Given the description of an element on the screen output the (x, y) to click on. 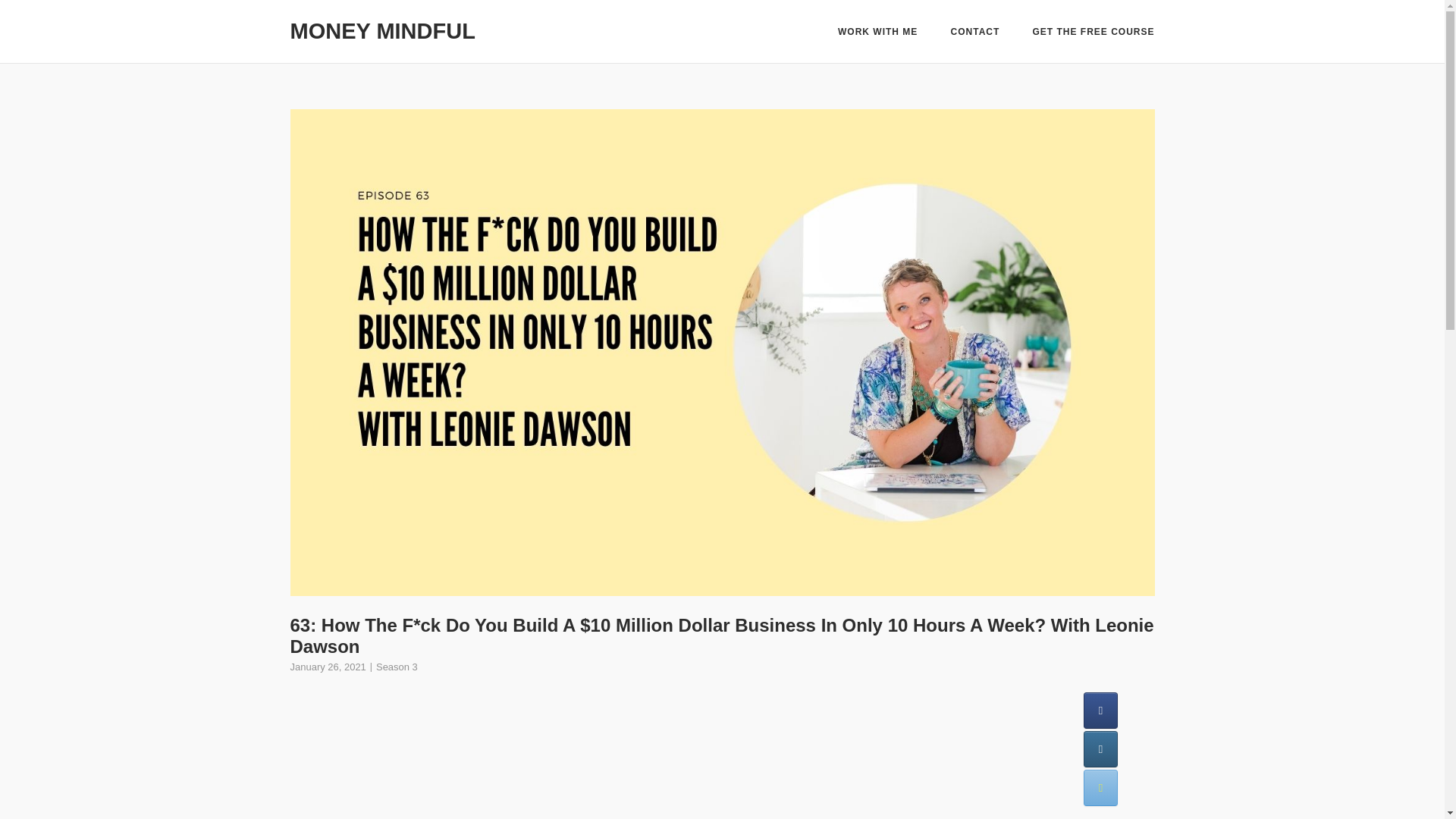
MONEY MINDFUL (381, 30)
MONEY MINDFUL on Instagram (1100, 749)
GET THE FREE COURSE (1093, 33)
Season 3 (396, 666)
CONTACT (975, 33)
MONEY MINDFUL on Facebook (1100, 710)
Subscribe to Mailing List (1100, 787)
WORK WITH ME (877, 33)
